Given the description of an element on the screen output the (x, y) to click on. 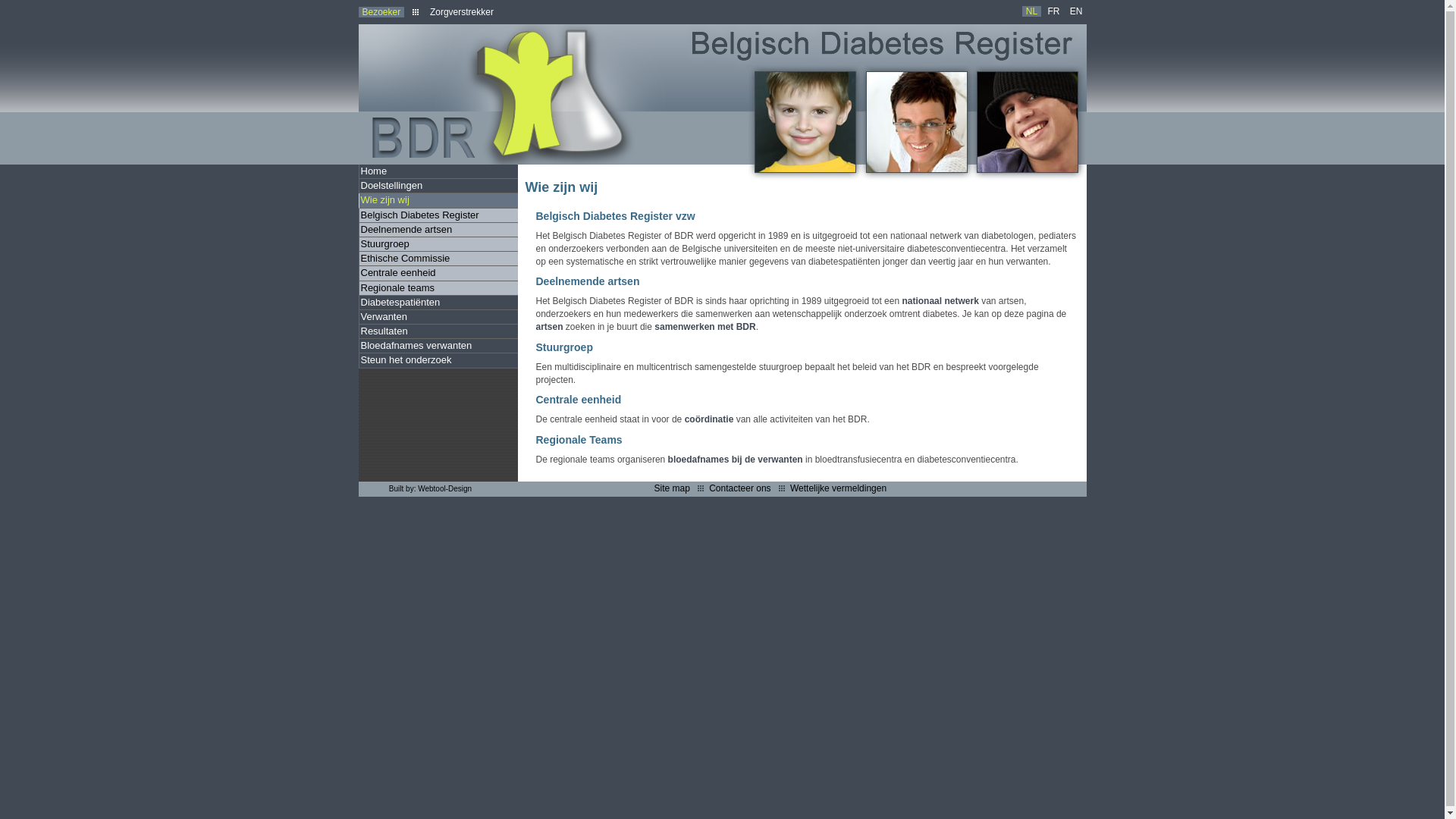
Doelstellingen Element type: text (437, 185)
FR Element type: text (1053, 11)
Wettelijke vermeldingen Element type: text (838, 488)
Contacteer ons Element type: text (739, 488)
Home Element type: text (437, 171)
Verwanten Element type: text (437, 317)
Resultaten Element type: text (437, 331)
Steun het onderzoek Element type: text (437, 360)
Site map Element type: text (671, 488)
Regionale teams Element type: text (437, 287)
Bloedafnames verwanten Element type: text (437, 345)
Ethische Commissie Element type: text (437, 258)
EN Element type: text (1076, 11)
Centrale eenheid Element type: text (437, 273)
Bezoeker Element type: text (380, 11)
Wie zijn wij Element type: text (437, 200)
Deelnemende artsen Element type: text (437, 229)
Zorgverstrekker Element type: text (461, 11)
Stuurgroep Element type: text (437, 244)
NL Element type: text (1031, 11)
Belgisch Diabetes Register Element type: text (437, 215)
